Given the description of an element on the screen output the (x, y) to click on. 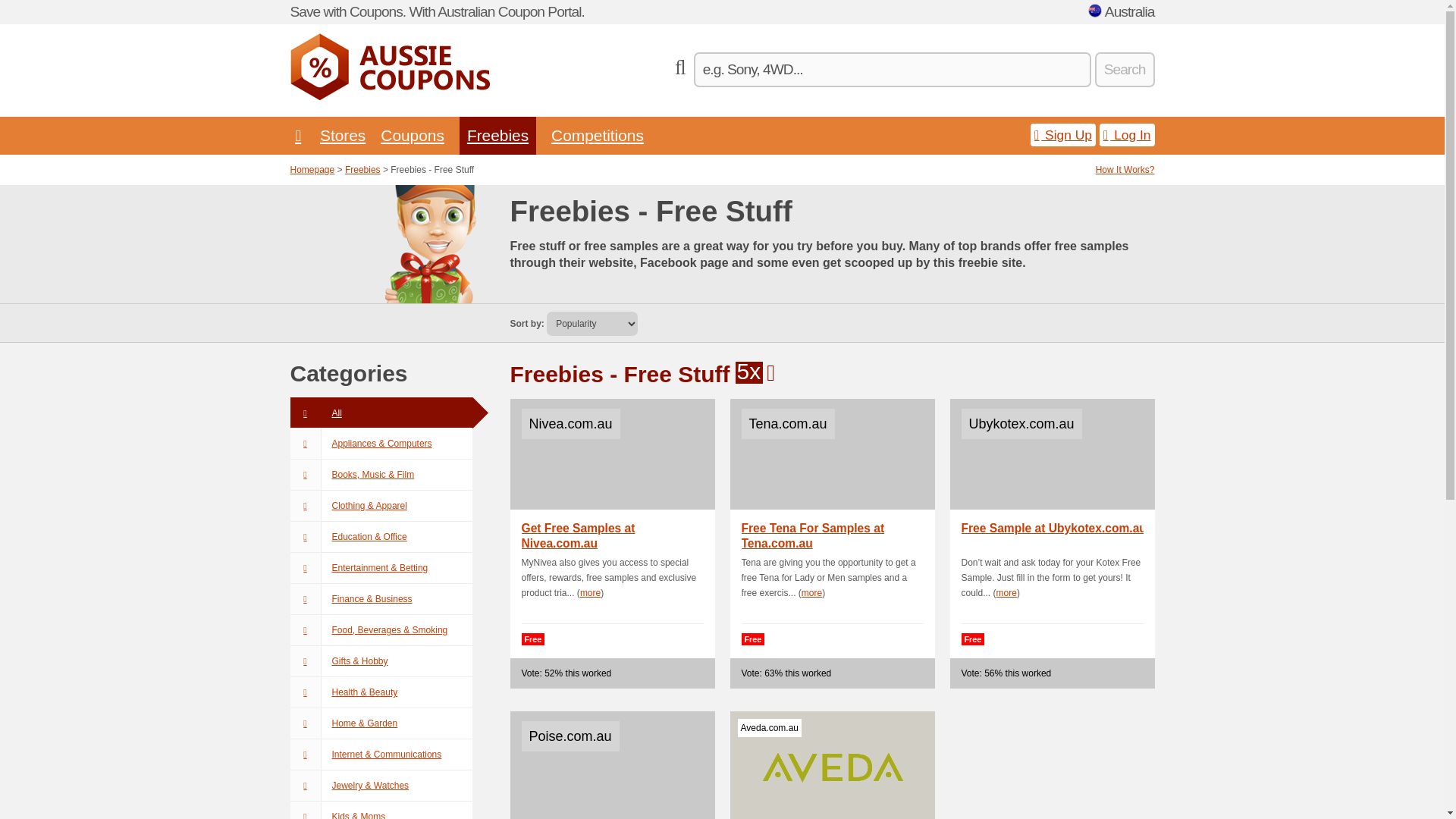
Stores (342, 135)
Search (1124, 69)
Free Tena For Samples at Tena.com.au (834, 535)
Coupons (412, 135)
Search (1124, 69)
Free sample at Ubykotex.com.au (1053, 535)
Free sample at Poise.com.au (611, 765)
e.g. Sony, 4WD... (892, 69)
Free Delivery Plus 4 Free Samples On All Orders (831, 765)
Get Free Samples at Nivea.com.au (614, 535)
